Given the description of an element on the screen output the (x, y) to click on. 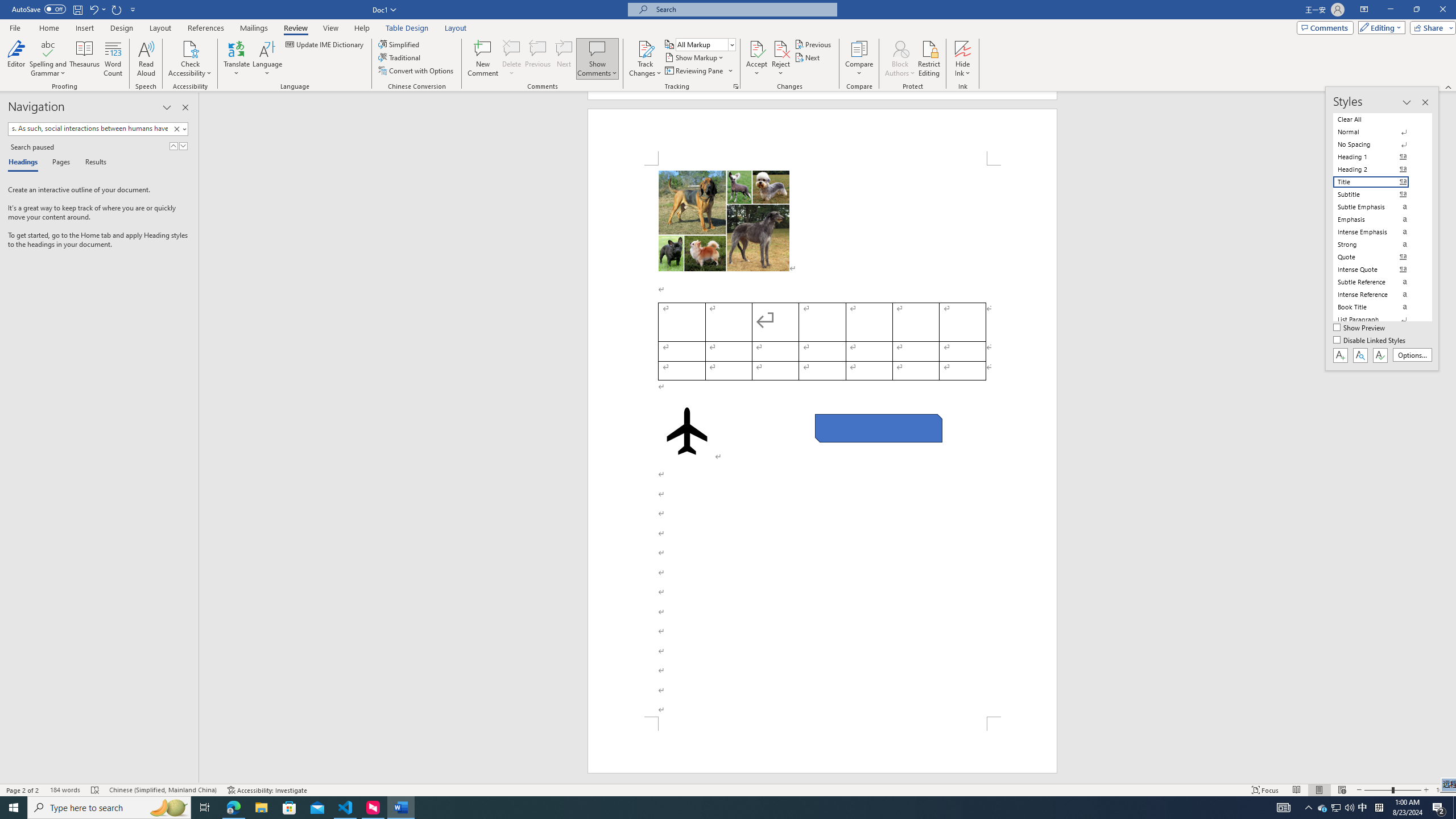
Change Tracking Options... (735, 85)
Repeat Style (117, 9)
Traditional (400, 56)
Hide Ink (962, 48)
Language (267, 58)
Page 2 content (822, 440)
Intense Quote (1377, 269)
New Comment (482, 58)
